Given the description of an element on the screen output the (x, y) to click on. 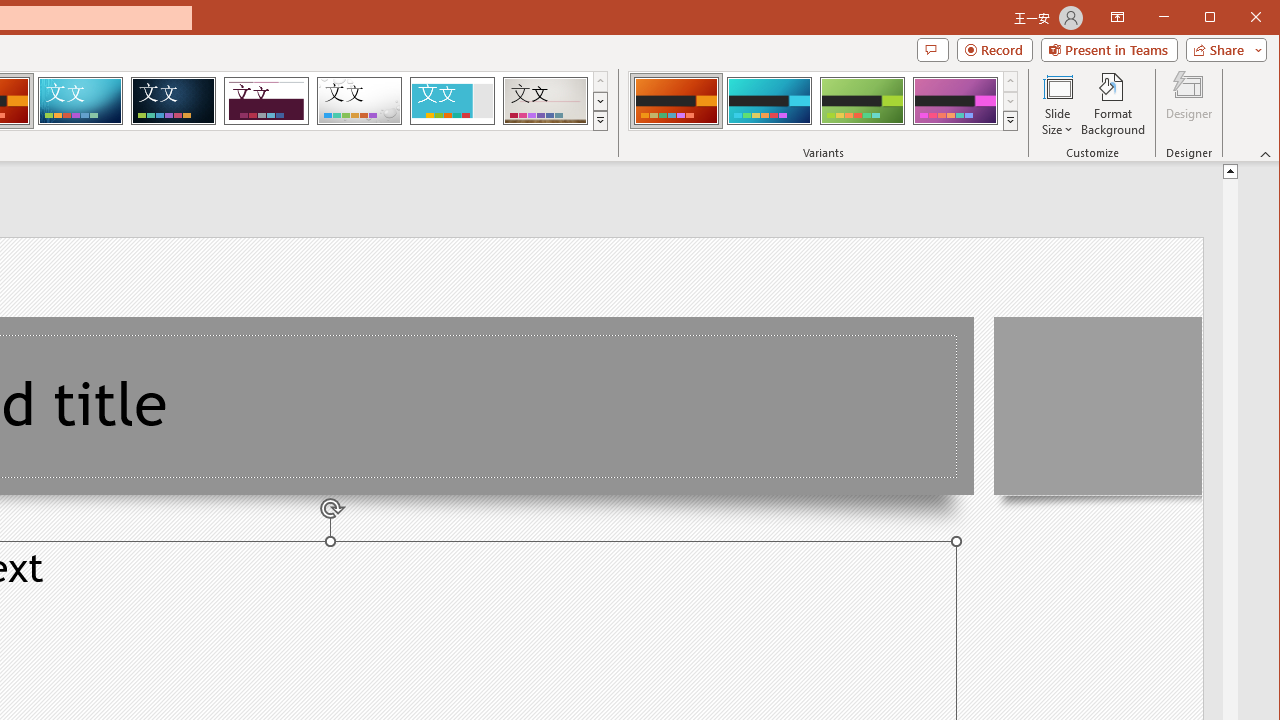
Damask (173, 100)
Berlin Variant 2 (769, 100)
Berlin Variant 3 (862, 100)
Frame (452, 100)
